Given the description of an element on the screen output the (x, y) to click on. 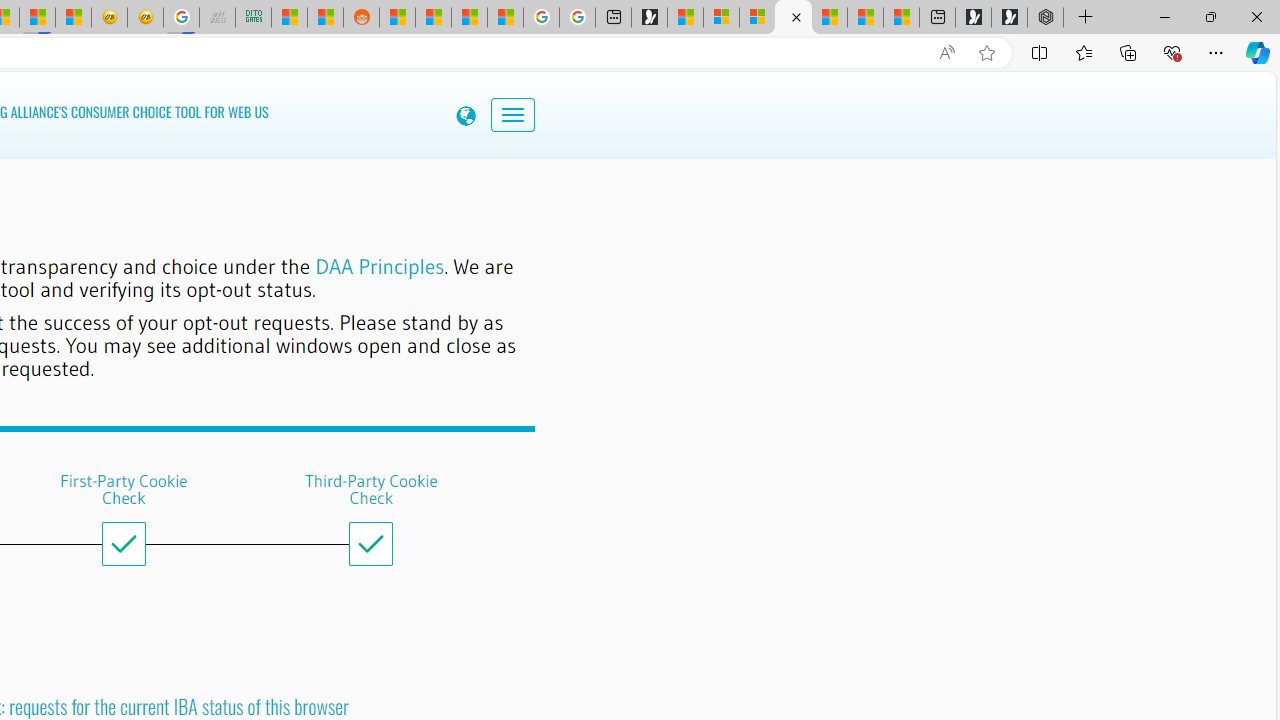
Nordace - Nordace Siena Is Not An Ordinary Backpack (1045, 17)
DAA Principles (379, 266)
